Given the description of an element on the screen output the (x, y) to click on. 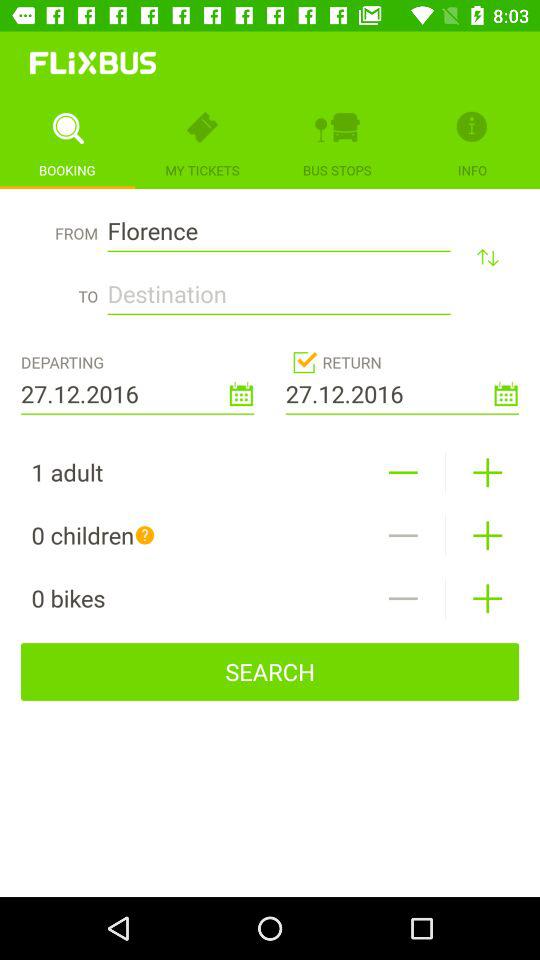
add children (487, 535)
